Given the description of an element on the screen output the (x, y) to click on. 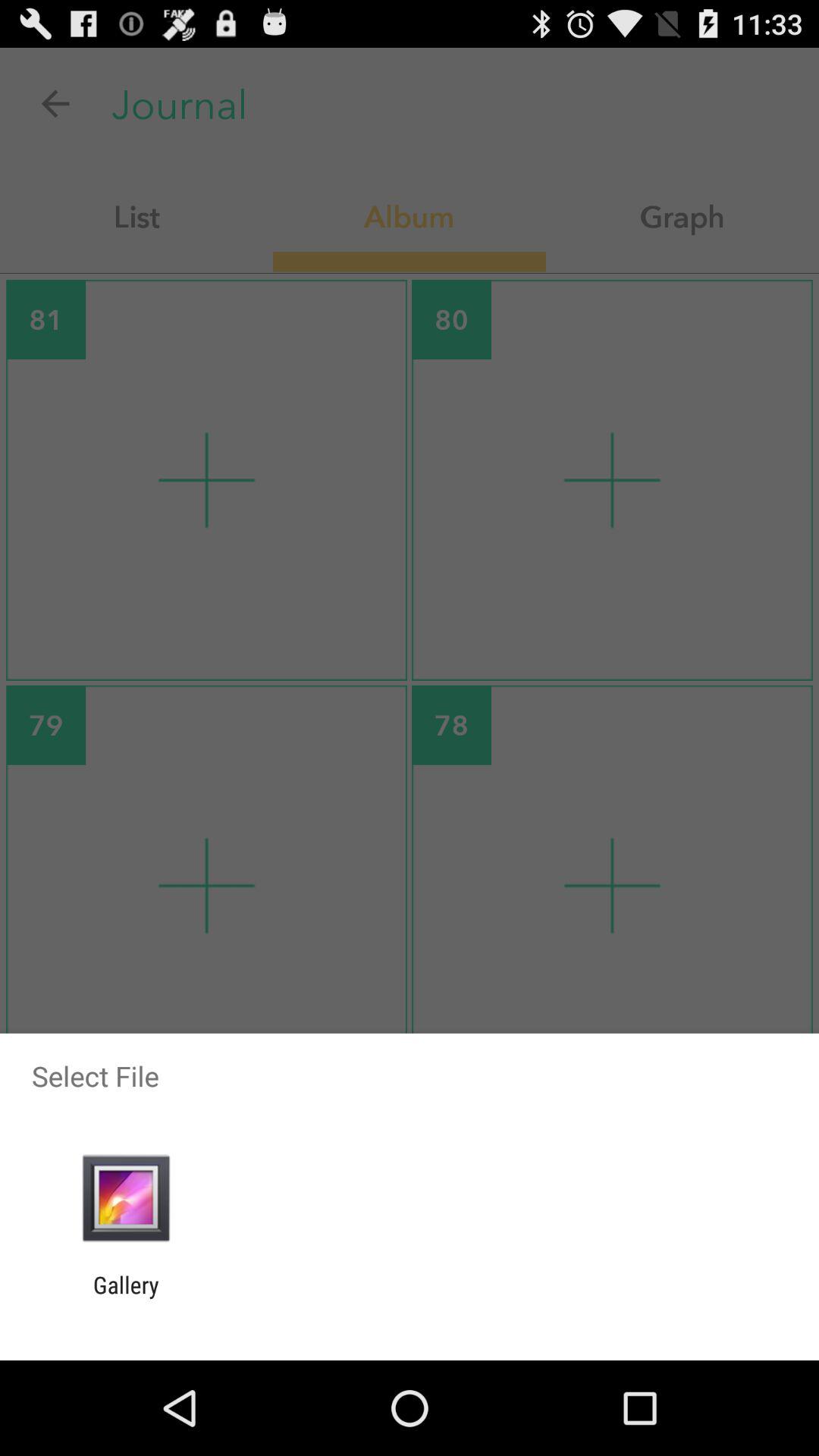
flip until gallery item (126, 1298)
